Given the description of an element on the screen output the (x, y) to click on. 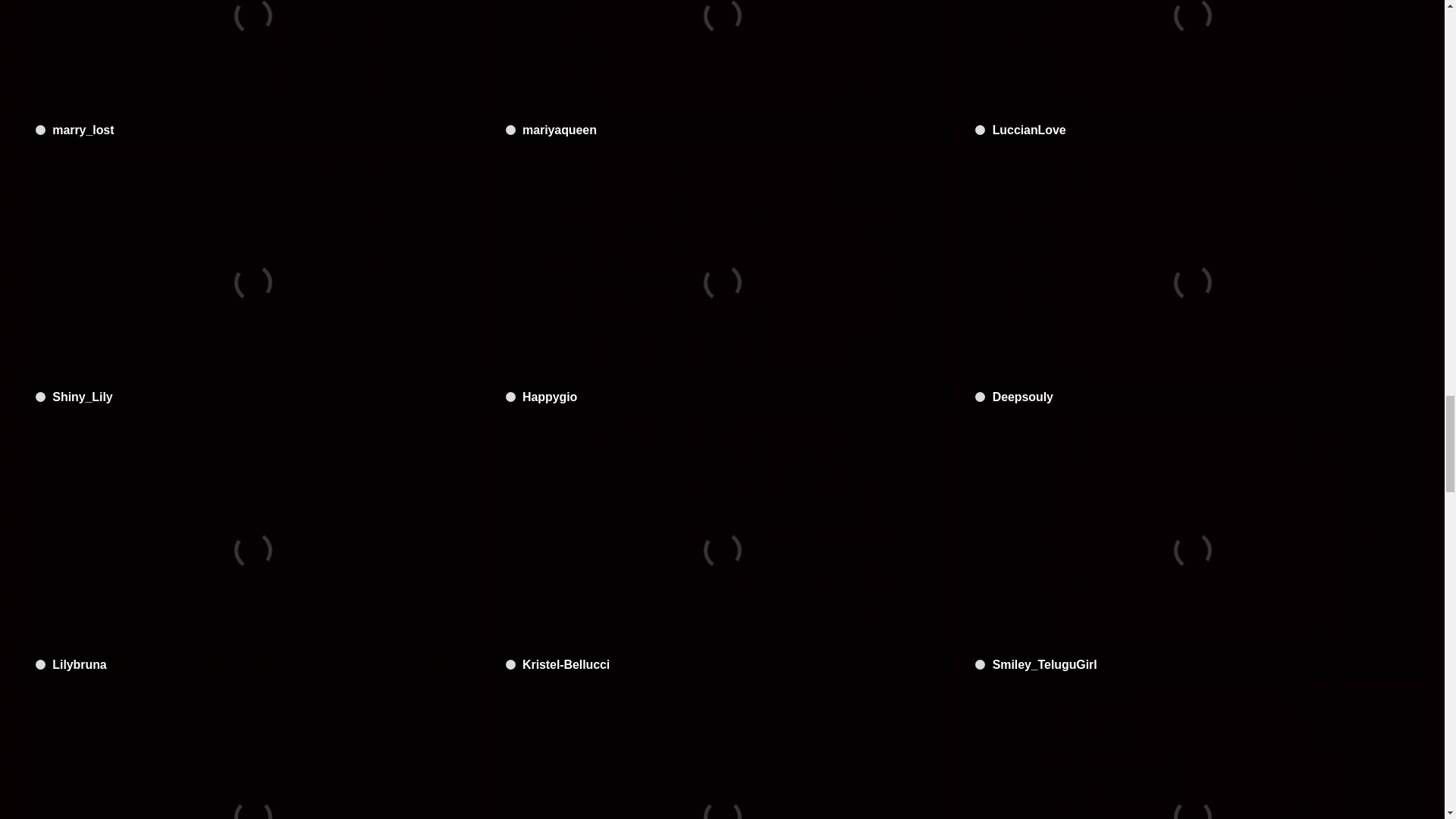
mariyaqueen (722, 72)
Deepsouly (1191, 281)
LuccianLove (1191, 72)
GjuliaX (252, 752)
Kristel-Bellucci (722, 548)
aaanyan (1191, 752)
Happygio (722, 281)
Lilybruna (252, 548)
Katyerave (722, 752)
